Given the description of an element on the screen output the (x, y) to click on. 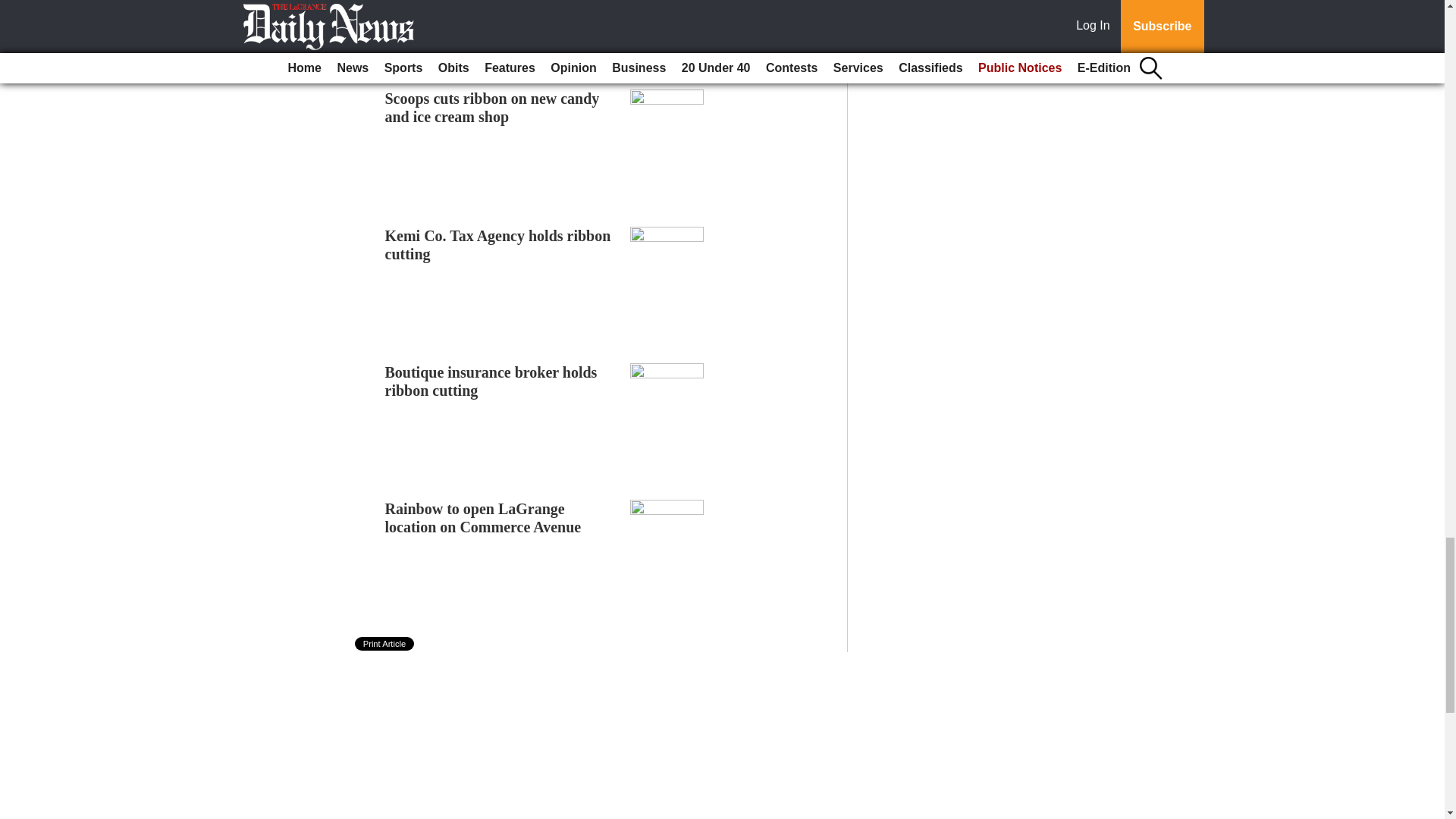
Boutique insurance broker holds ribbon cutting (490, 380)
Kemi Co. Tax Agency holds ribbon cutting (498, 244)
Scoops cuts ribbon on new candy and ice cream shop (492, 107)
Boutique insurance broker holds ribbon cutting (490, 380)
Scoops cuts ribbon on new candy and ice cream shop (492, 107)
Rainbow to open LaGrange location on Commerce Avenue (482, 517)
Rainbow to open LaGrange location on Commerce Avenue (482, 517)
Kemi Co. Tax Agency holds ribbon cutting (498, 244)
Print Article (384, 643)
